Given the description of an element on the screen output the (x, y) to click on. 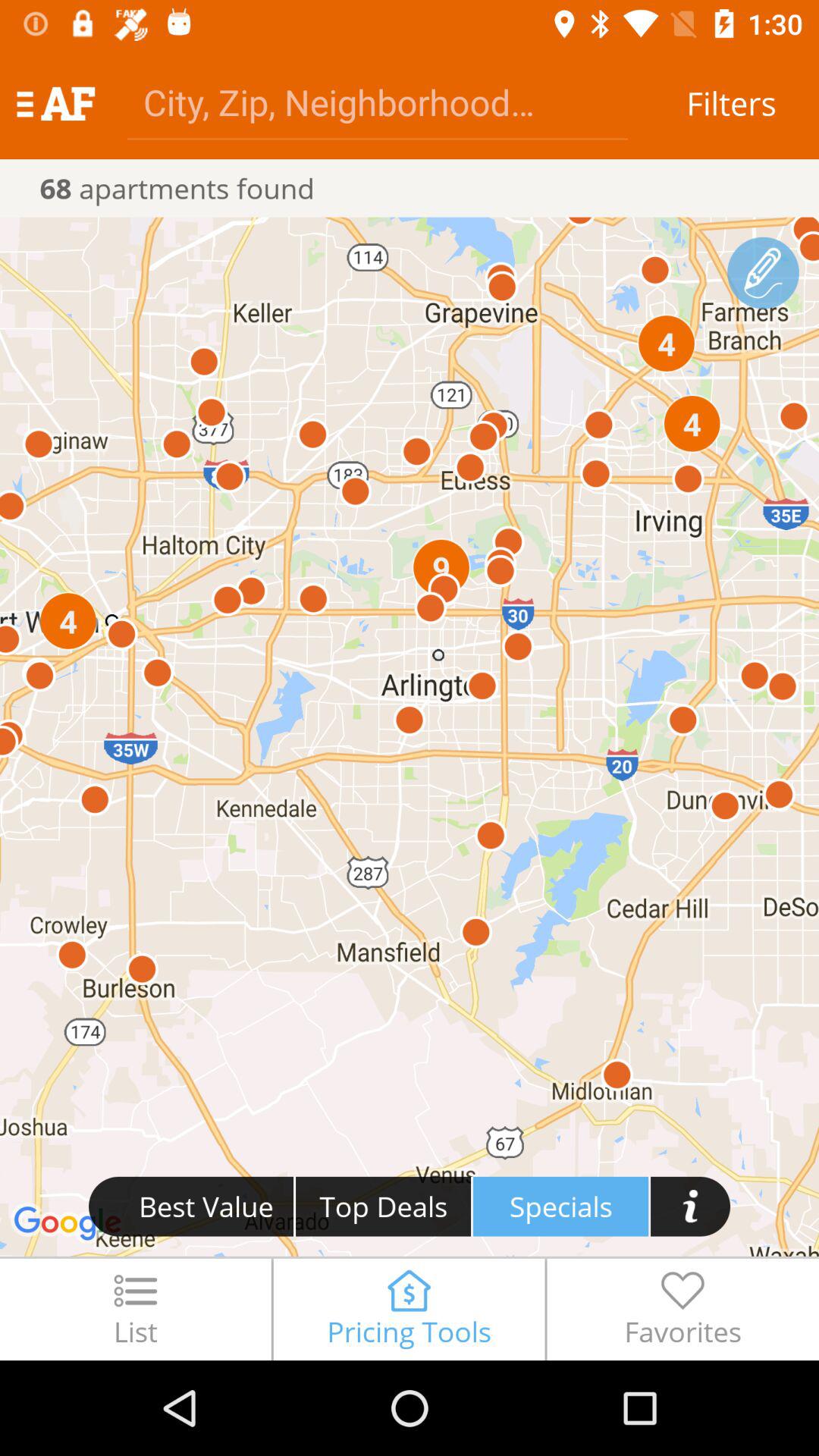
jump to favorites item (683, 1309)
